Given the description of an element on the screen output the (x, y) to click on. 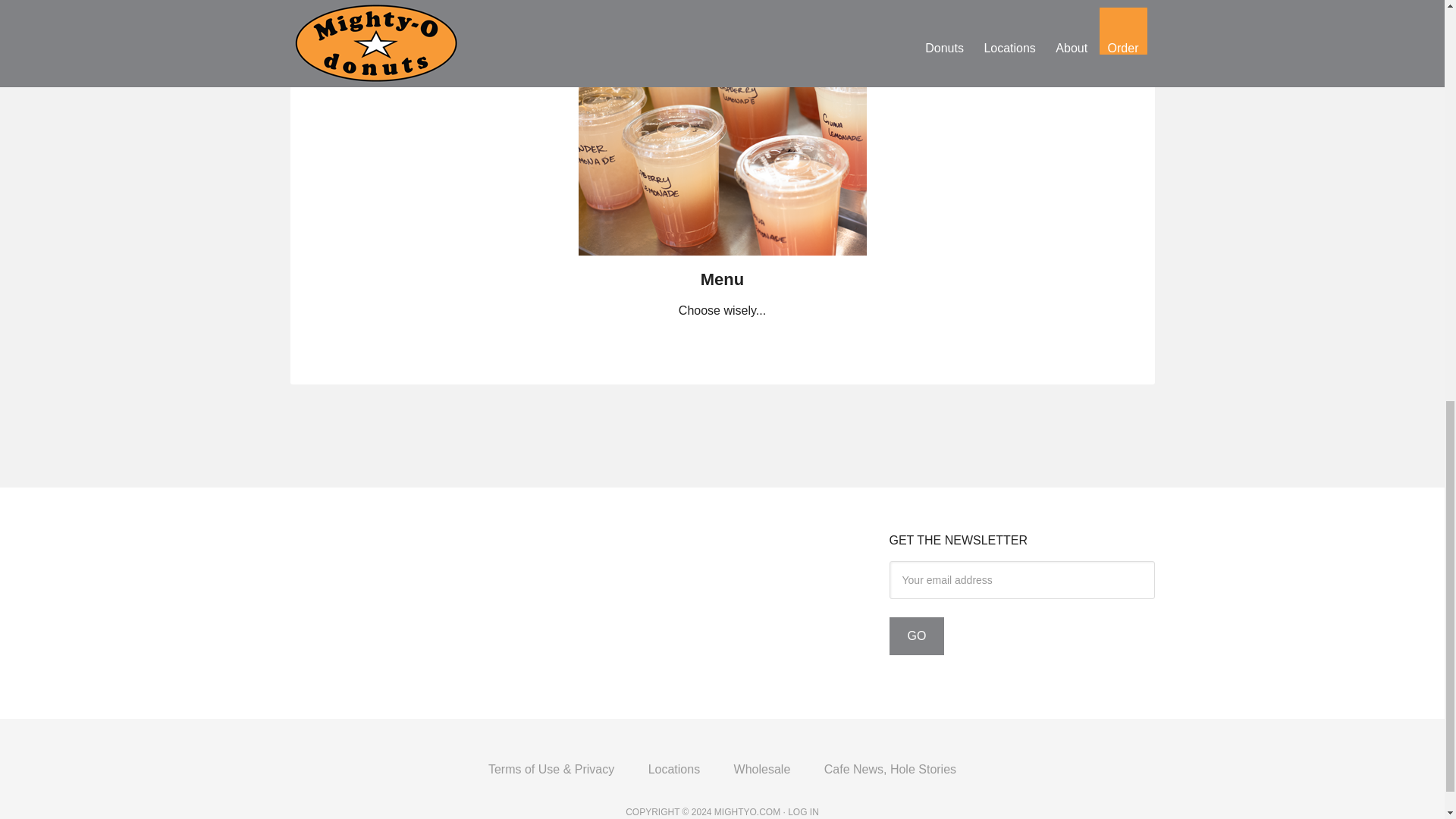
Wholesale (762, 769)
Locations (674, 769)
Choose wisely... (721, 309)
LOG IN (802, 811)
Menu (722, 279)
go (915, 636)
Cafe News, Hole Stories (890, 769)
Menu (722, 279)
go (915, 636)
Menu (722, 259)
